Given the description of an element on the screen output the (x, y) to click on. 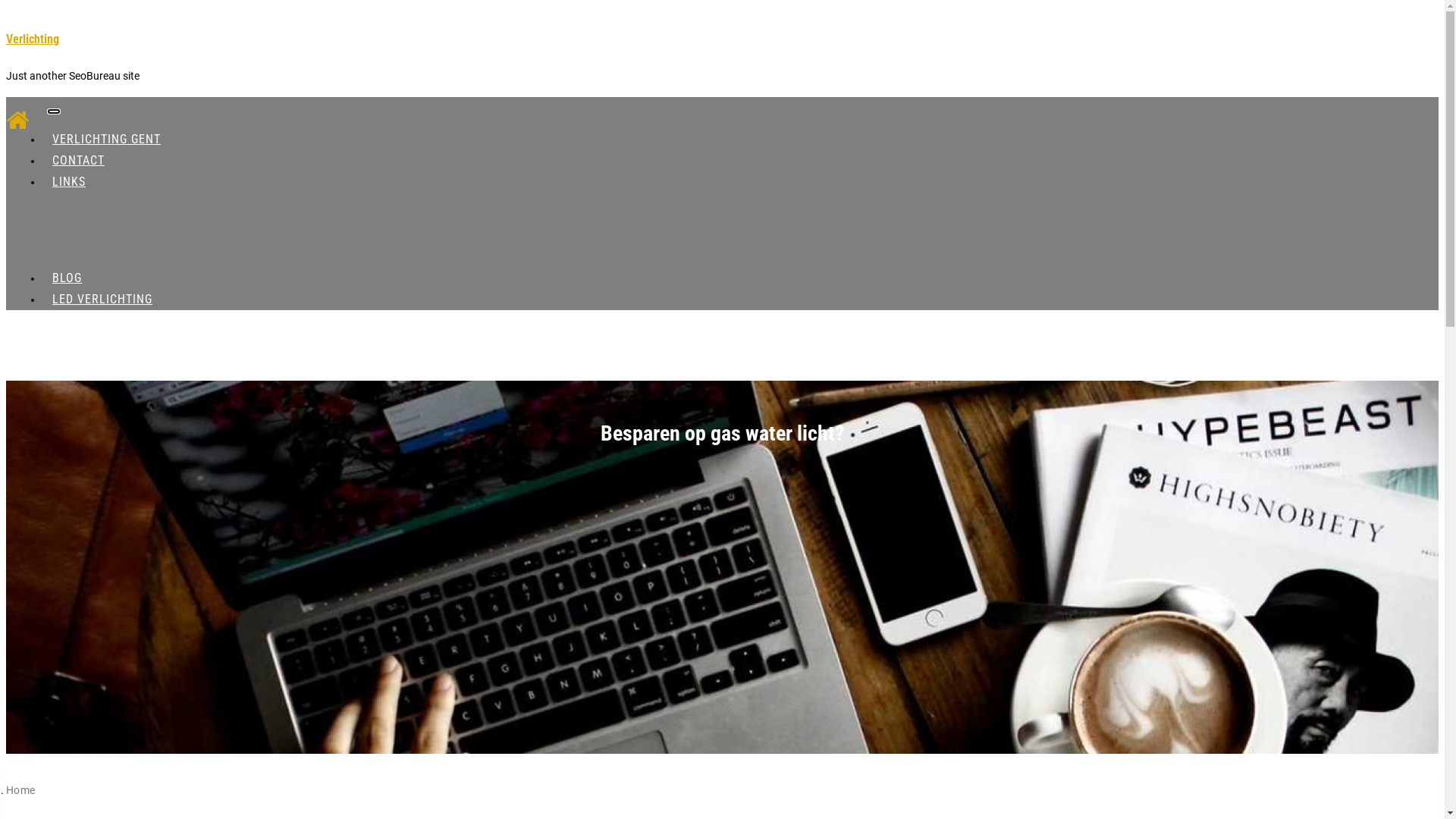
CONTACT Element type: text (78, 160)
Toggle navigatie Element type: text (53, 111)
Home Element type: text (20, 790)
LED VERLICHTING Element type: text (102, 298)
LINKS Element type: text (68, 181)
Ga naar de inhoud Element type: text (5, 5)
search_icon Element type: hover (899, 355)
BLOG Element type: text (66, 277)
Verlichting Element type: text (32, 38)
VERLICHTING GENT Element type: text (106, 138)
